Given the description of an element on the screen output the (x, y) to click on. 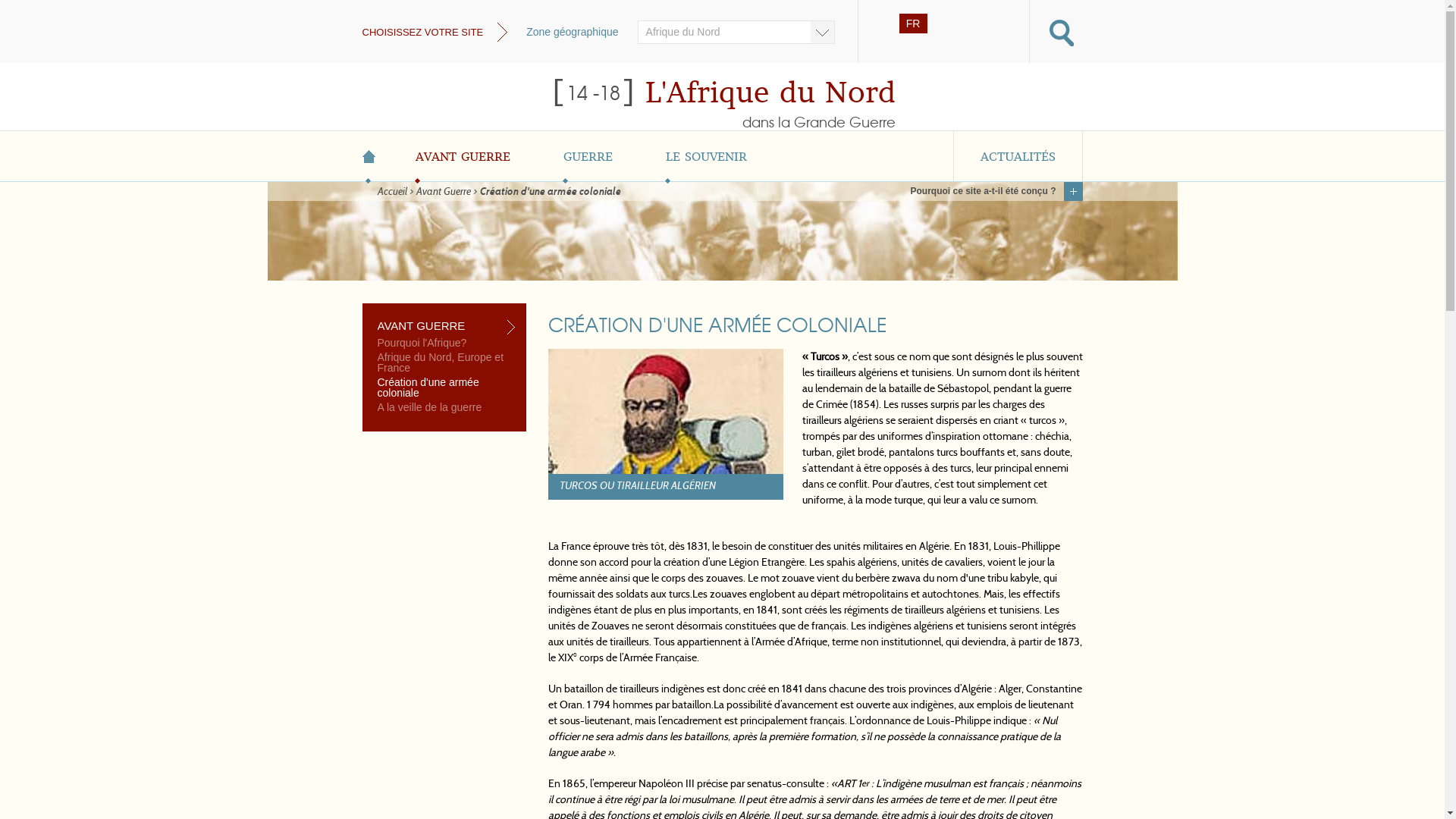
Avant Guerre Element type: text (442, 191)
AVANT GUERRE Element type: text (445, 325)
LE SOUVENIR Element type: text (705, 156)
Pourquoi l'Afrique? Element type: text (445, 344)
GUERRE Element type: text (587, 156)
ACCUEIL Element type: text (375, 156)
Afrique du Nord, Europe et France Element type: text (445, 363)
A la veille de la guerre Element type: text (445, 408)
Accueil Element type: text (392, 191)
AVANT GUERRE Element type: text (462, 156)
Afrique du Nord Element type: text (735, 31)
